Given the description of an element on the screen output the (x, y) to click on. 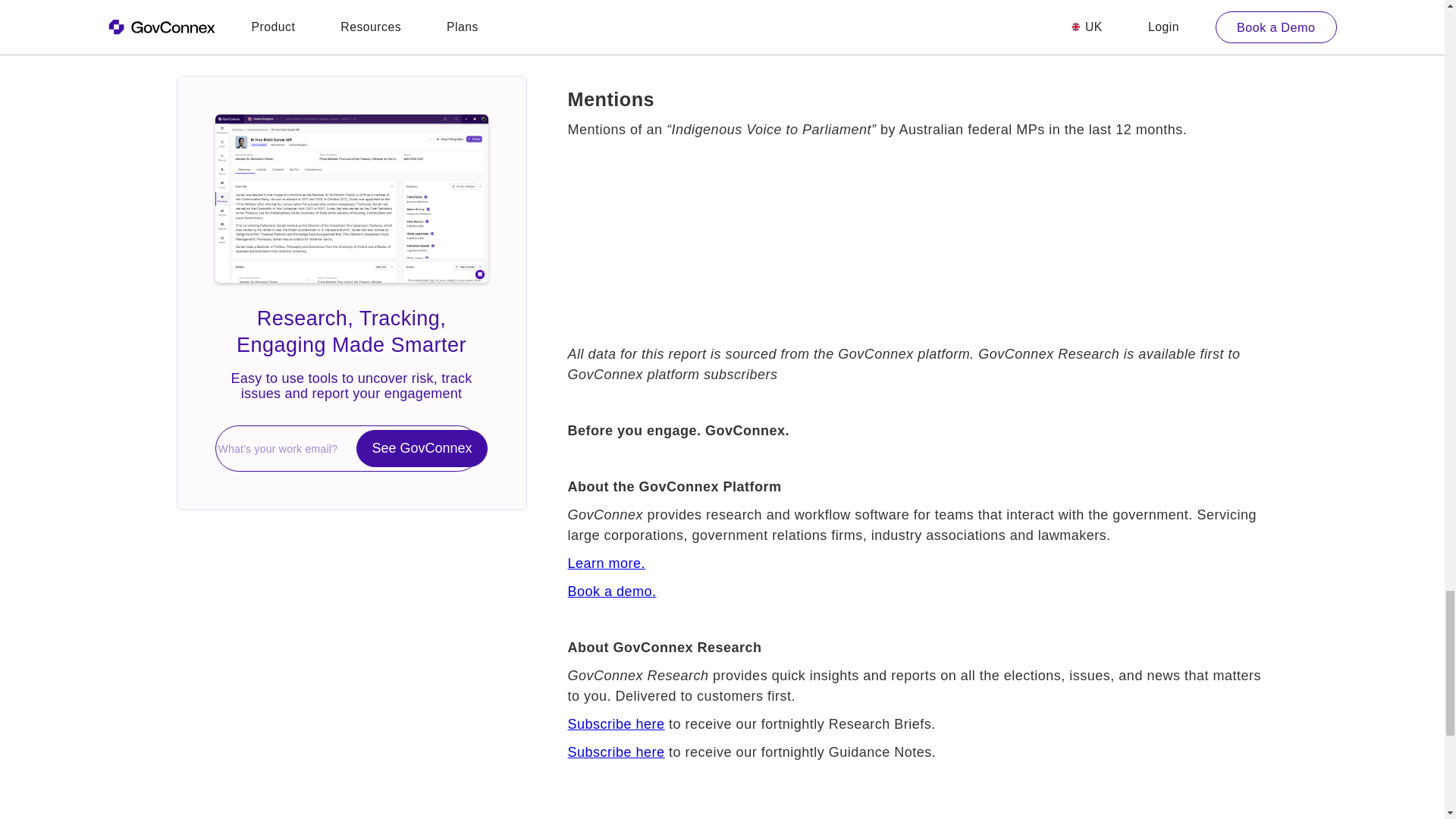
Subscribe here (615, 752)
Book a demo. (611, 590)
Subscribe here (615, 724)
Learn more. (606, 563)
